Given the description of an element on the screen output the (x, y) to click on. 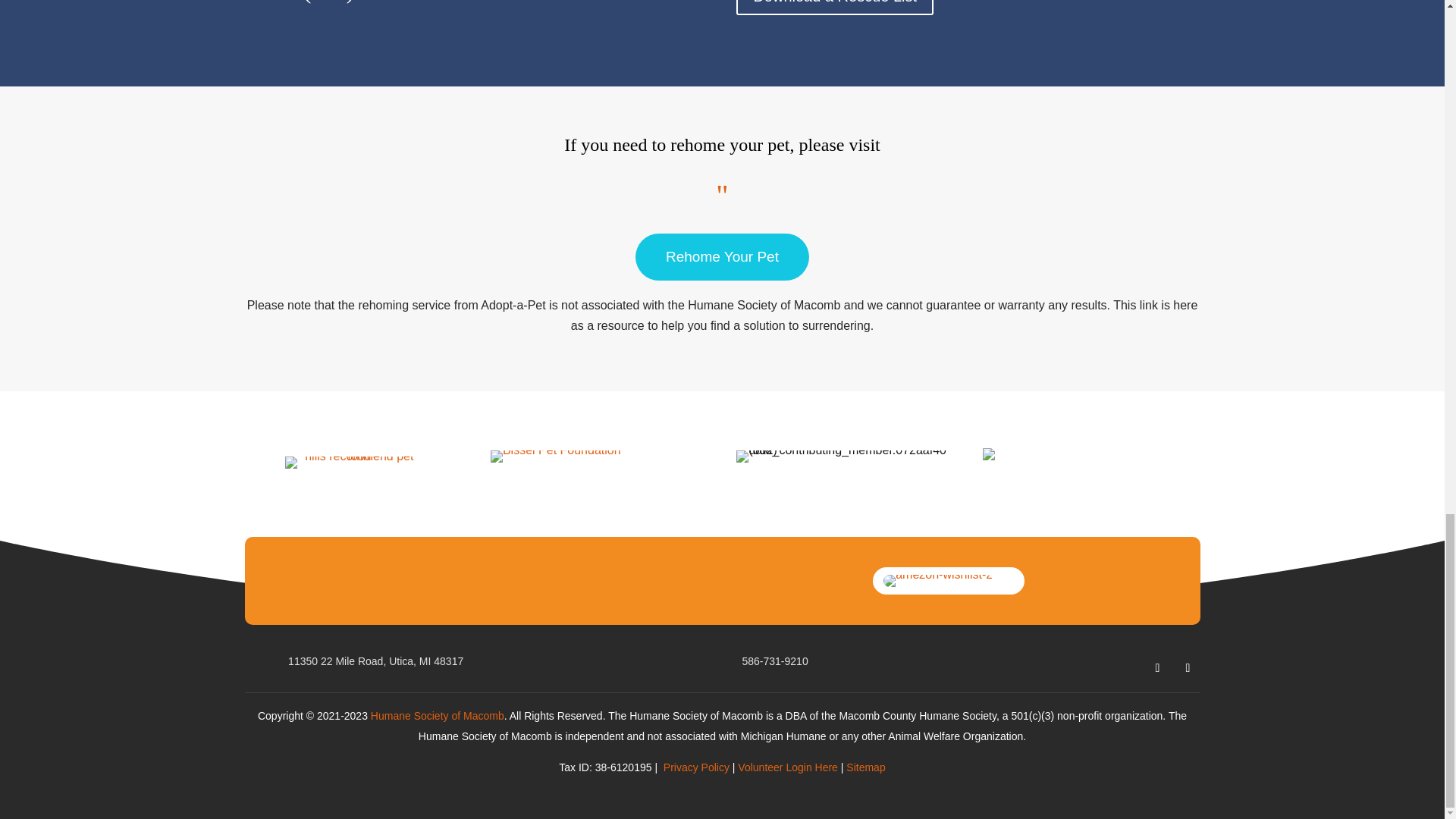
Download a Rescue List (834, 7)
hills recommend pet food (353, 461)
Bissel Pet Foundation (555, 456)
586-731-9210 (774, 660)
amezon-wishlist-2 (937, 580)
Follow on Instagram (1186, 668)
Follow on Facebook (1156, 668)
Rehome Your Pet (721, 256)
